Given the description of an element on the screen output the (x, y) to click on. 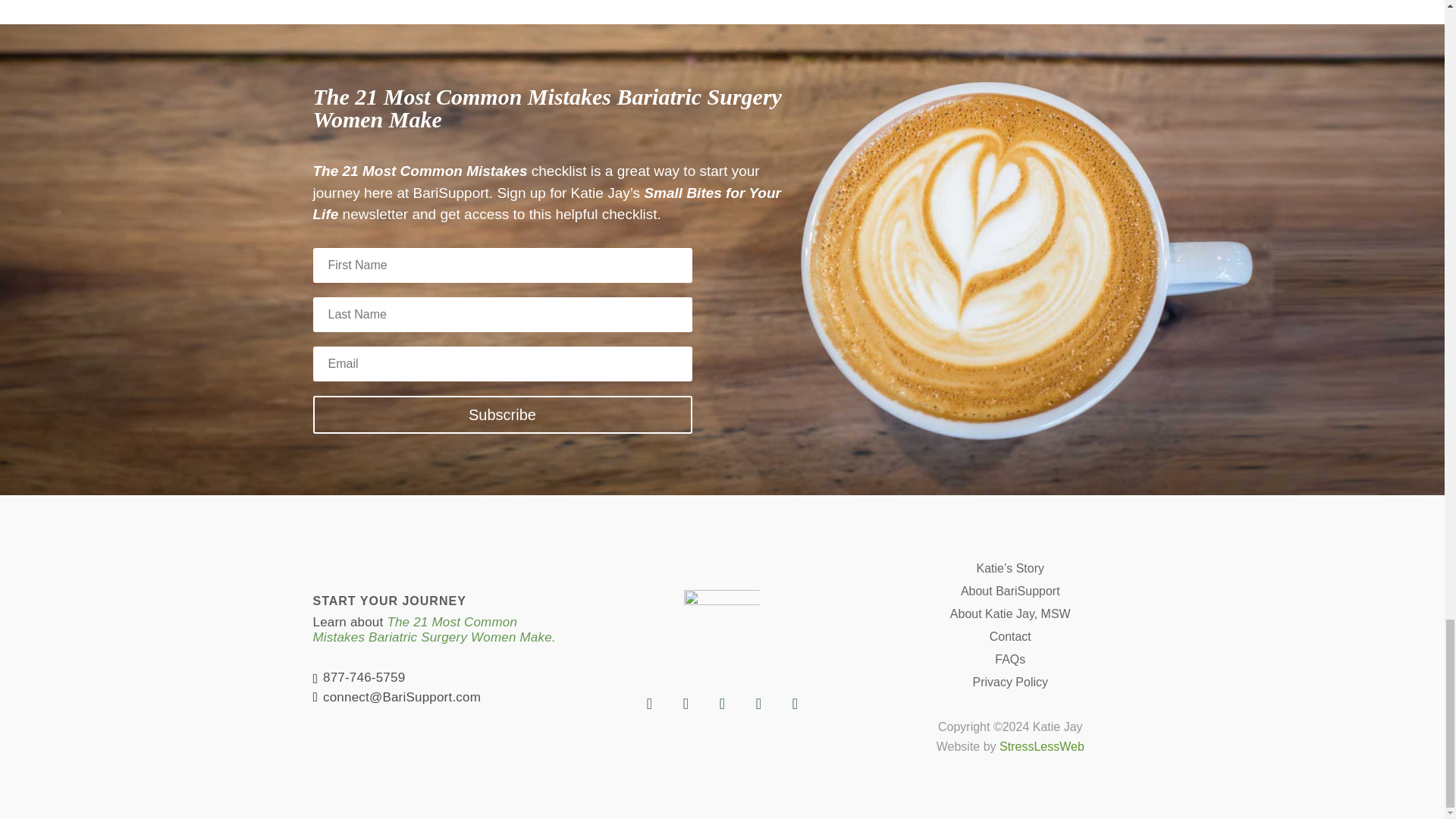
Follow on LinkedIn (793, 703)
Follow on Facebook (648, 703)
Follow on Pinterest (721, 703)
Follow on X (684, 703)
Follow on Instagram (757, 703)
